Given the description of an element on the screen output the (x, y) to click on. 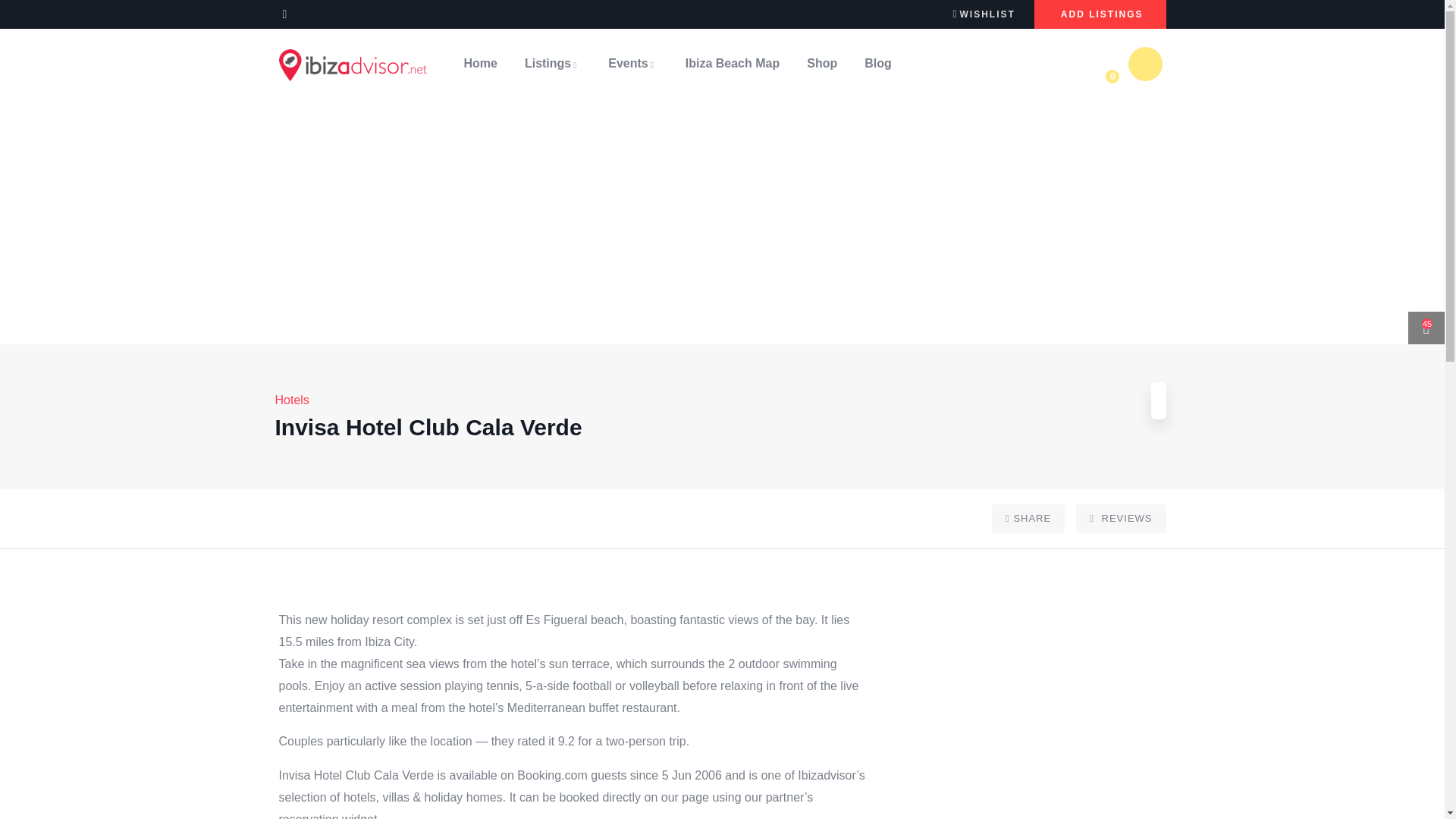
ADD LISTINGS (1099, 14)
WISHLIST (983, 13)
Home (353, 65)
